Given the description of an element on the screen output the (x, y) to click on. 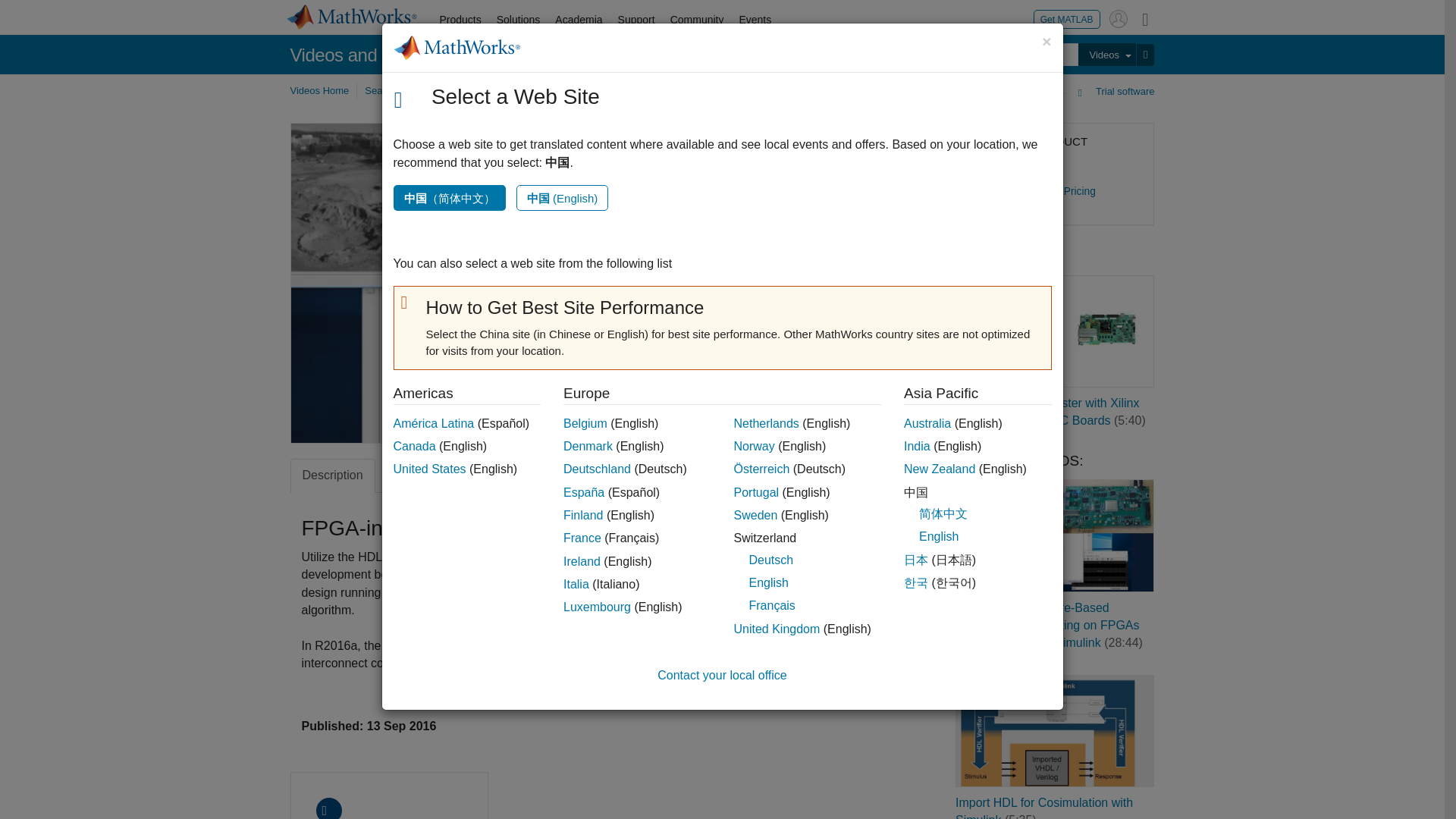
Get MATLAB (1066, 18)
Products (460, 19)
Events (754, 19)
Community (697, 19)
Solutions (518, 19)
Play Video (574, 282)
Support (636, 19)
Sign In to Your MathWorks Account (1117, 18)
Academia (578, 19)
